Given the description of an element on the screen output the (x, y) to click on. 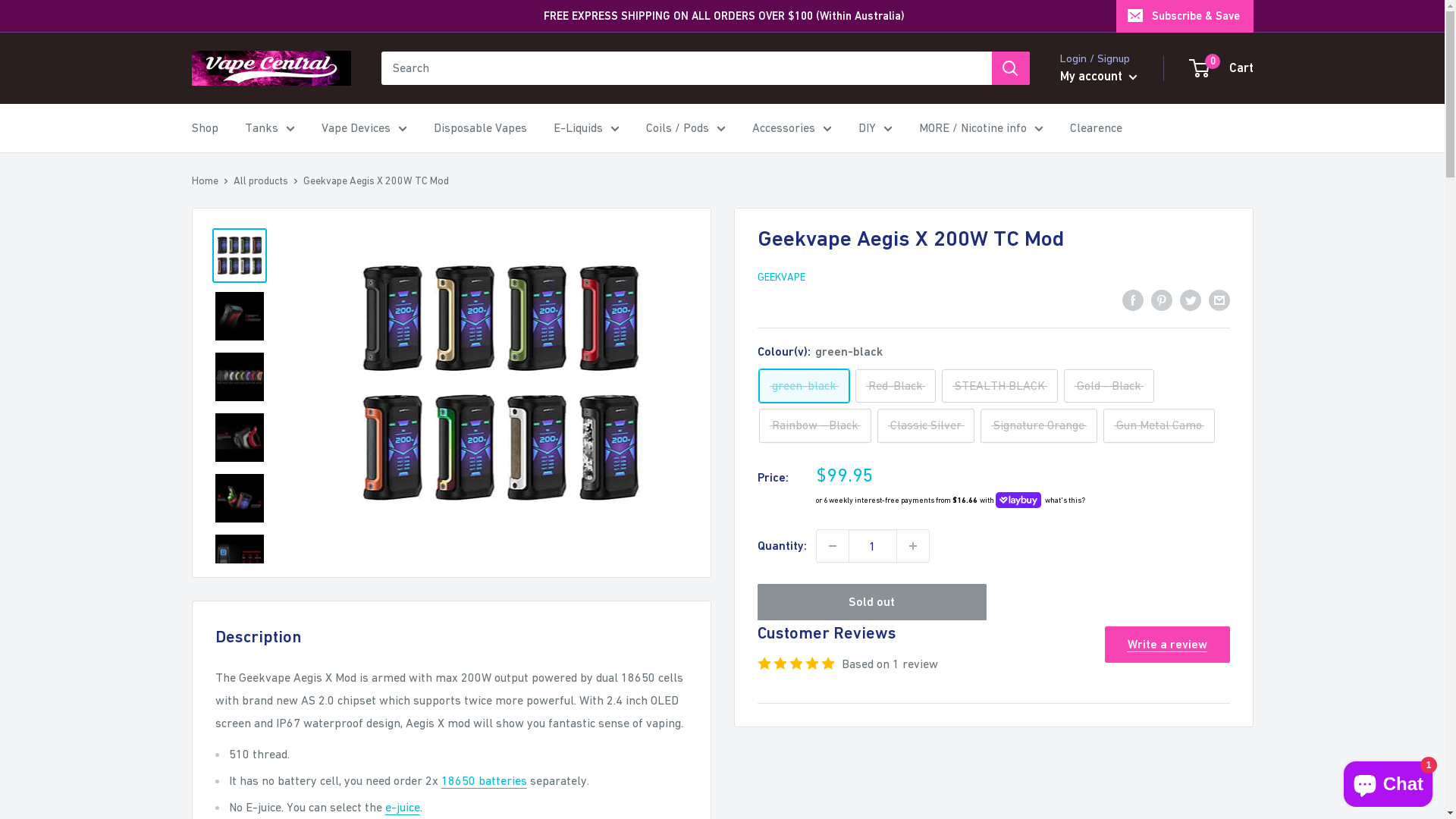
MORE / Nicotine info Element type: text (981, 127)
DIY Element type: text (875, 127)
Clearence Element type: text (1095, 127)
GEEKVAPE Element type: text (780, 276)
0
Cart Element type: text (1221, 68)
what's this? Element type: text (1063, 499)
Coils / Pods Element type: text (685, 127)
E-Liquids Element type: text (586, 127)
Accessories Element type: text (791, 127)
18650 batteries Element type: text (484, 780)
My account Element type: text (1098, 76)
Shopify online store chat Element type: hover (1388, 780)
Write a review Element type: text (1166, 644)
Shop Element type: text (204, 127)
Decrease quantity by 1 Element type: hover (831, 545)
Vape Devices Element type: text (364, 127)
e-juice Element type: text (402, 806)
Increase quantity by 1 Element type: hover (912, 545)
Home Element type: text (204, 180)
Disposable Vapes Element type: text (480, 127)
All products Element type: text (260, 180)
Subscribe & Save Element type: text (1184, 15)
Tanks Element type: text (269, 127)
Sold out Element type: text (871, 601)
